Given the description of an element on the screen output the (x, y) to click on. 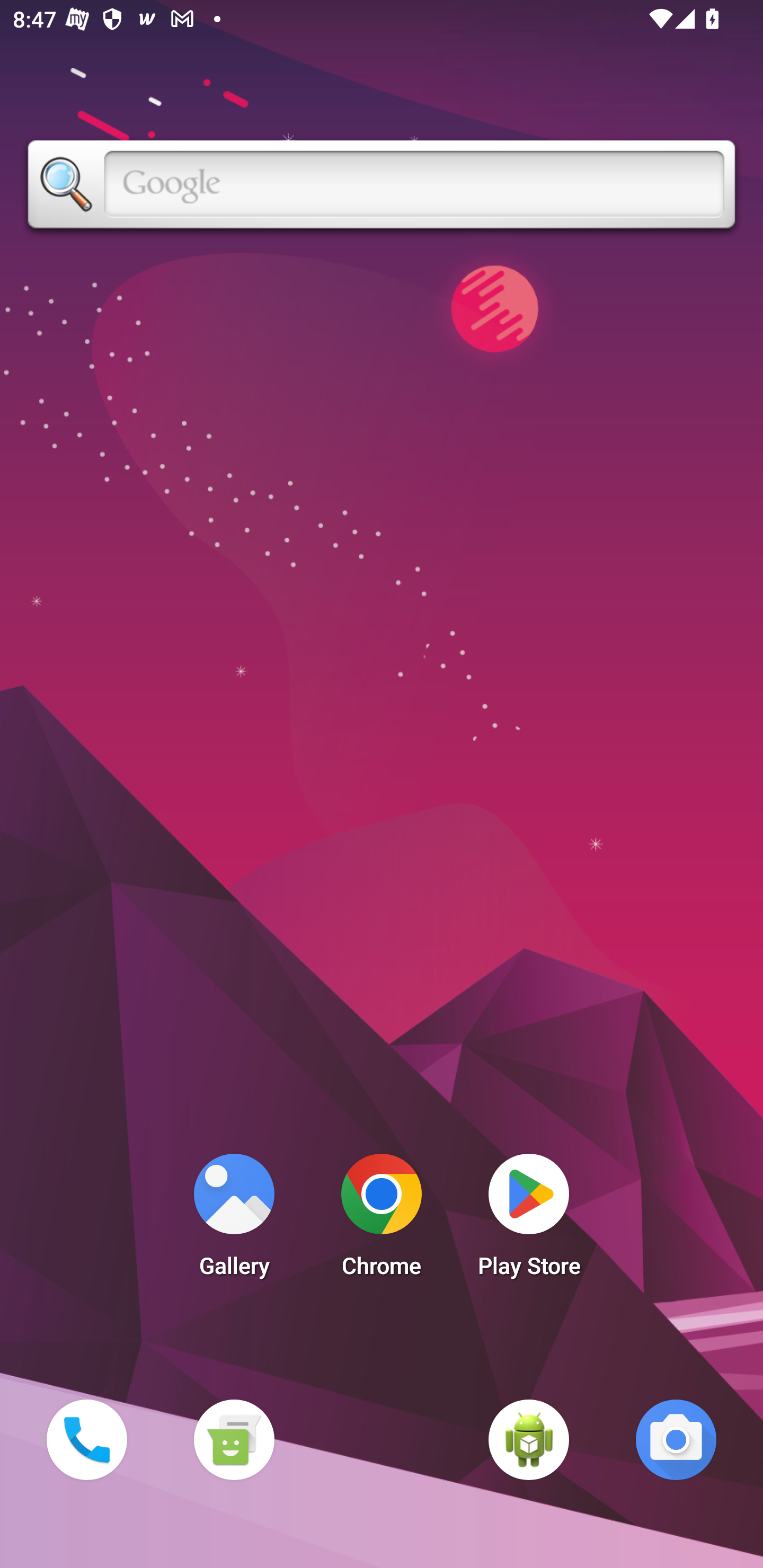
Gallery (233, 1220)
Chrome (381, 1220)
Play Store (528, 1220)
Phone (86, 1439)
Messaging (233, 1439)
WebView Browser Tester (528, 1439)
Camera (676, 1439)
